Given the description of an element on the screen output the (x, y) to click on. 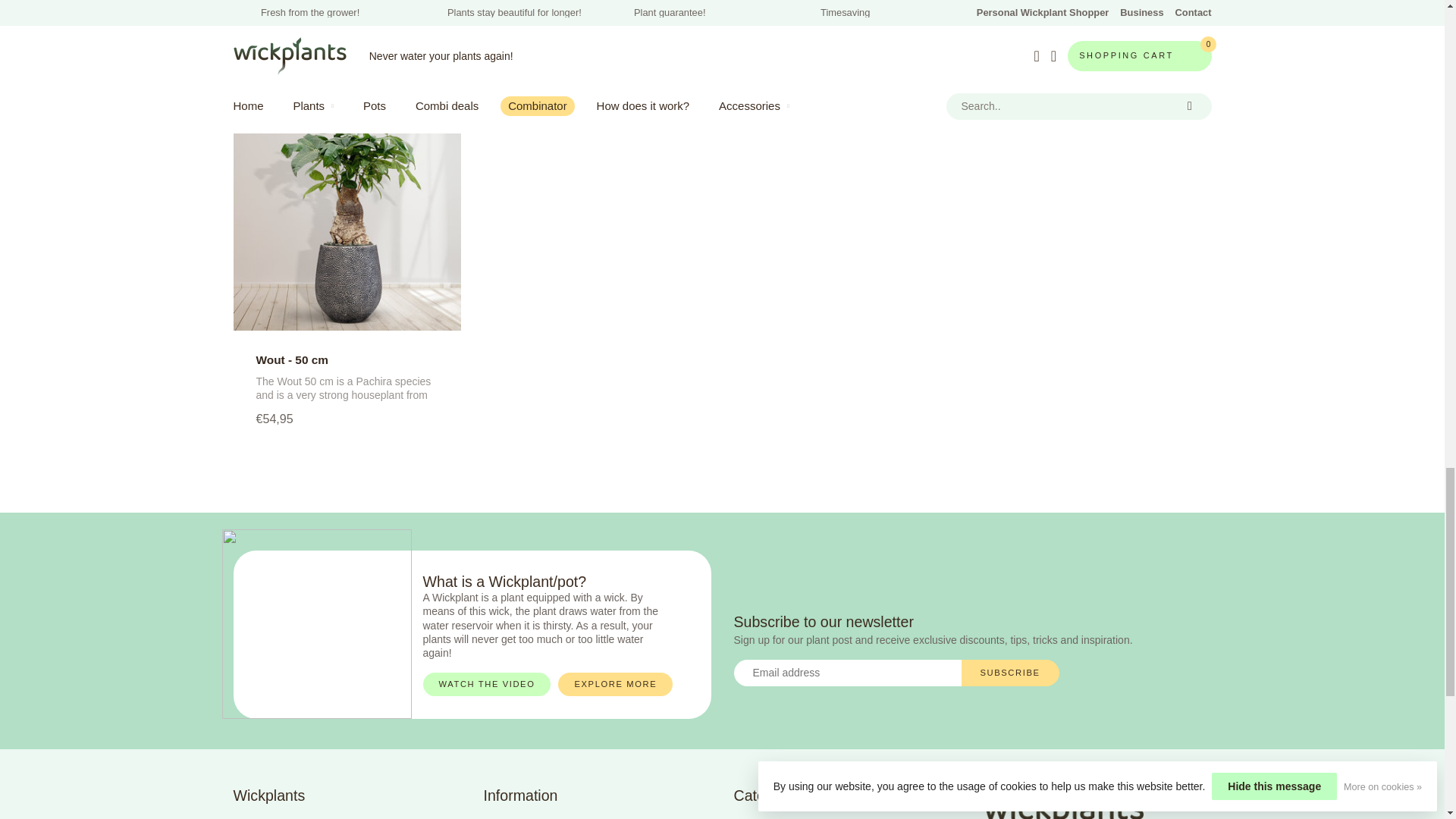
About Wickplants (597, 816)
Wout - 50 cm (346, 216)
Business (346, 816)
Wout - 50 cm (347, 359)
